Given the description of an element on the screen output the (x, y) to click on. 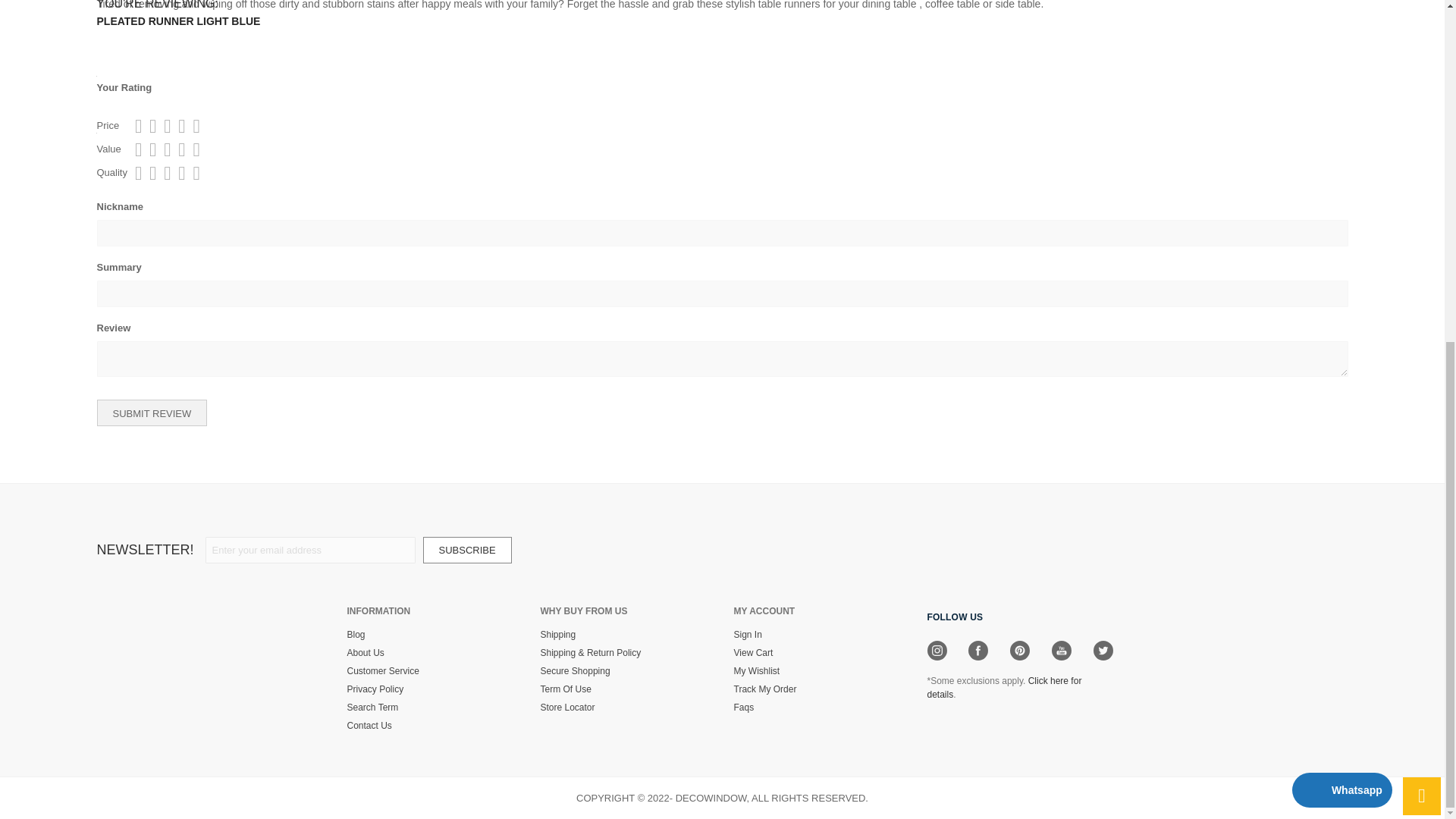
3 stars (155, 126)
4 stars (162, 172)
4 stars (162, 126)
3 stars (155, 172)
2 stars (149, 126)
2 stars (149, 172)
3 stars (155, 149)
4 stars (162, 149)
5 stars (170, 149)
5 stars (170, 126)
2 stars (149, 149)
